Given the description of an element on the screen output the (x, y) to click on. 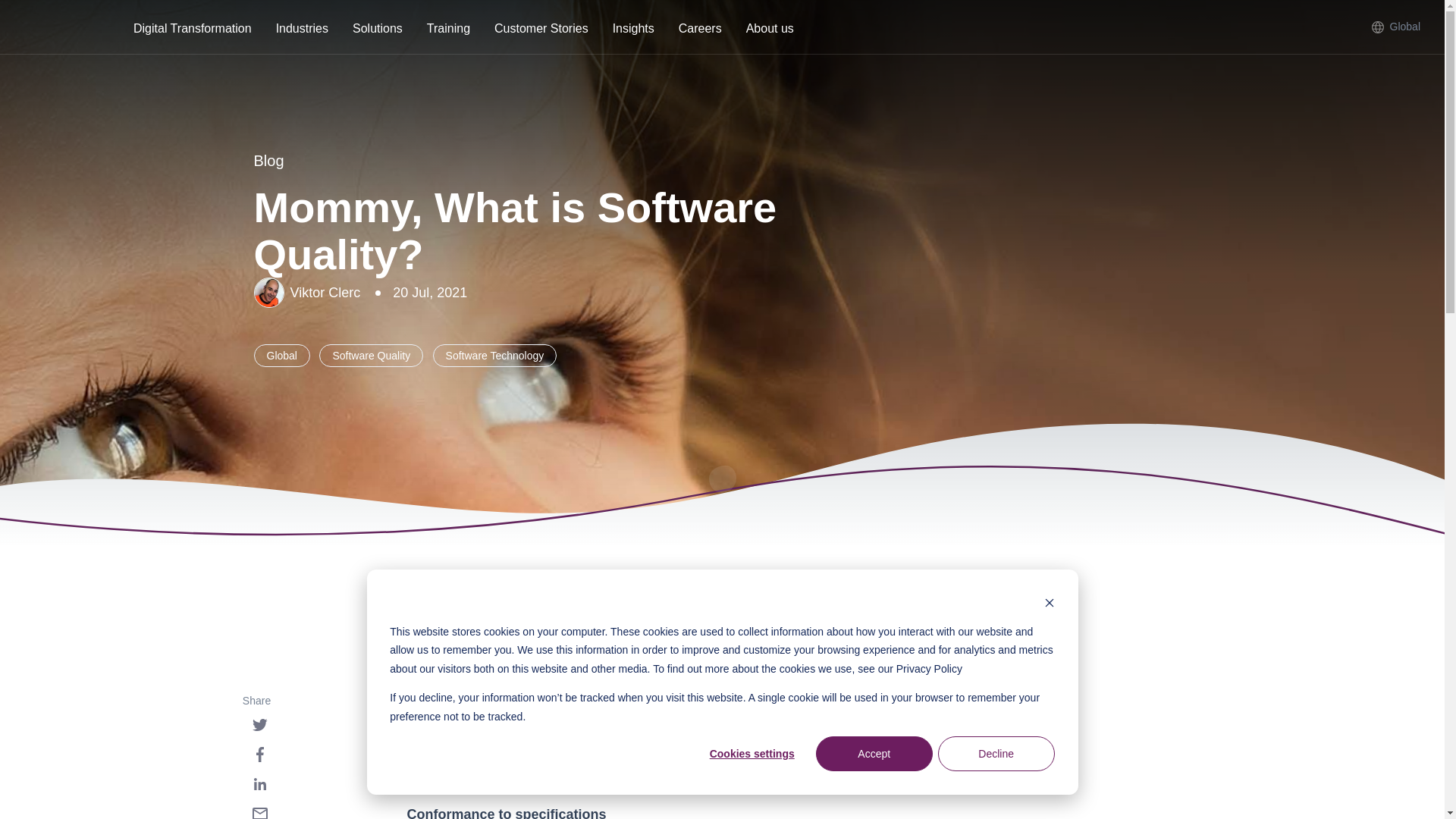
About us (769, 29)
Industries (301, 29)
Training (447, 29)
Customer Stories (540, 29)
Insights (632, 29)
Digital Transformation (191, 29)
Solutions (377, 29)
Careers (699, 29)
